Given the description of an element on the screen output the (x, y) to click on. 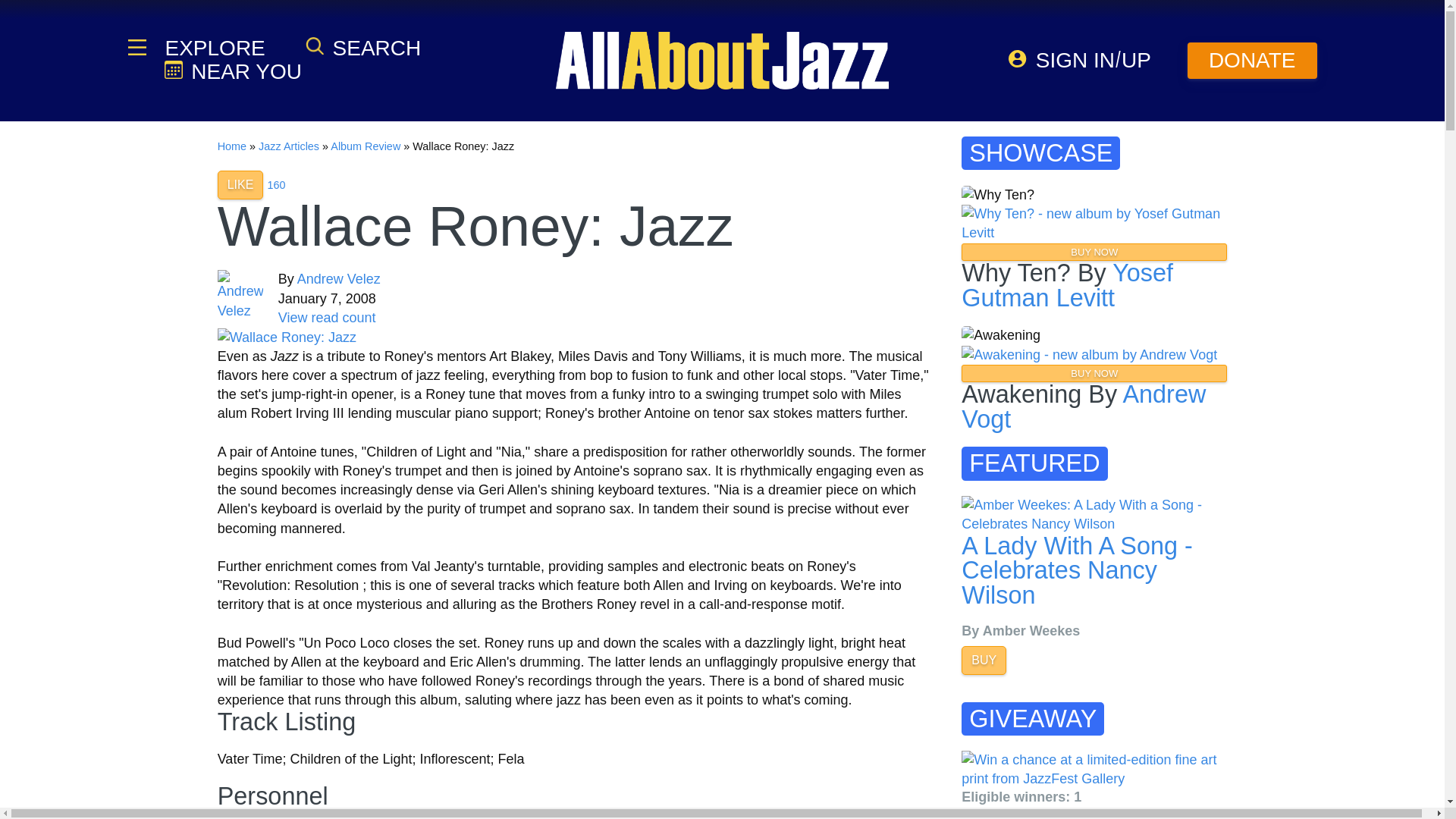
Support All About Jazz and go ad-free! (1252, 60)
NEAR YOU (232, 71)
Click Here to Return to the All About Jazz Home Page (231, 146)
View read count (326, 317)
Explore the vast grandeur of All About Jazz (212, 47)
Album Review (365, 146)
View Jazz at All About Jazz (286, 336)
DONATE (1252, 60)
LIKE (239, 184)
View jazz concerts near you (232, 71)
Welcome to All About Jazz! (722, 59)
Wallace Roney: Jazz (286, 337)
160 (275, 184)
Home (231, 146)
SIGN IN UP (1080, 60)
